Given the description of an element on the screen output the (x, y) to click on. 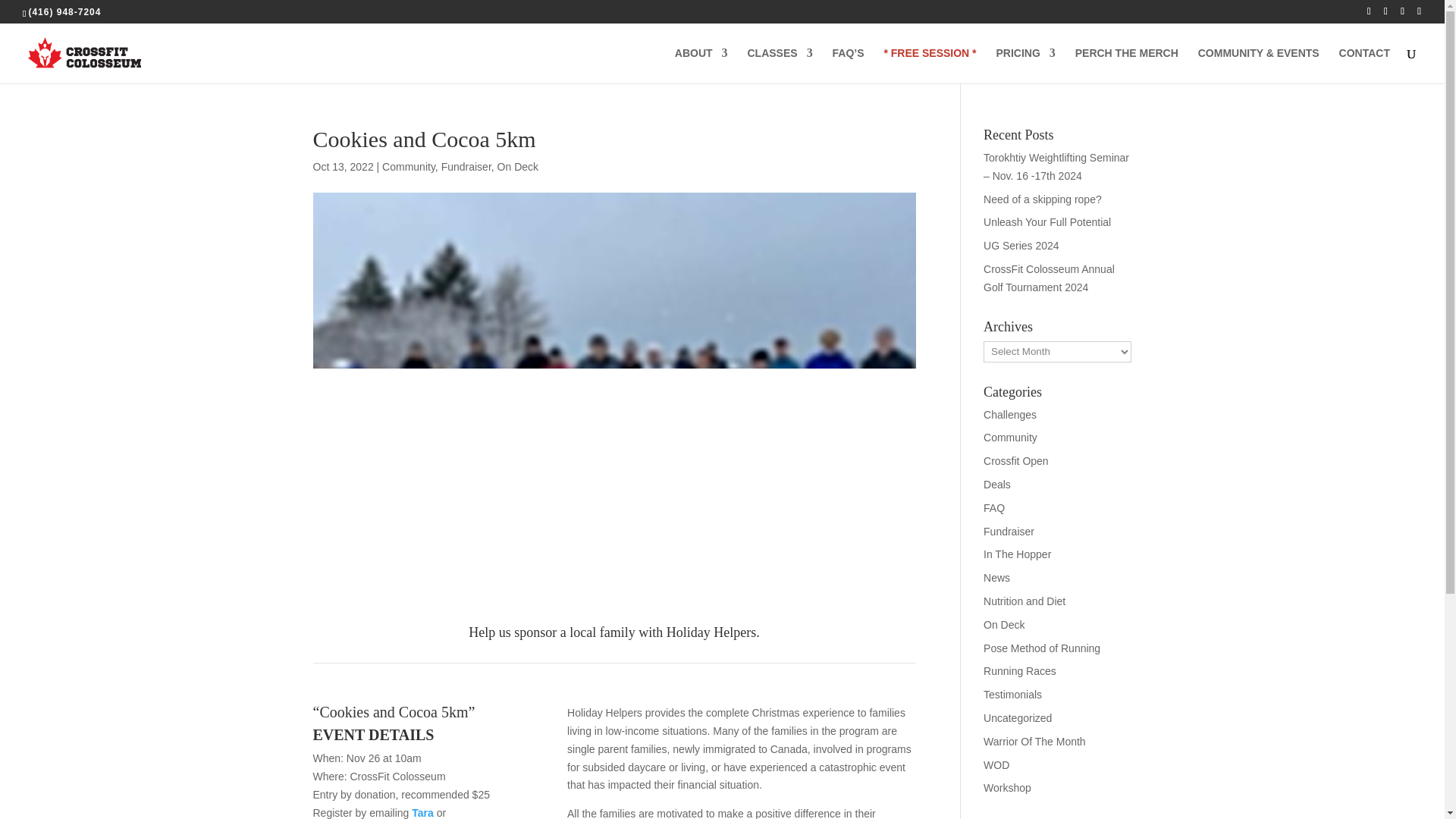
Fundraiser (466, 166)
CrossFit Colosseum Annual Golf Tournament 2024 (1049, 277)
Unleash Your Full Potential (1047, 222)
On Deck (517, 166)
Community (408, 166)
Need of a skipping rope? (1043, 199)
CONTACT (1364, 65)
Challenges (1010, 414)
UG Series 2024 (1021, 245)
PERCH THE MERCH (1126, 65)
